Given the description of an element on the screen output the (x, y) to click on. 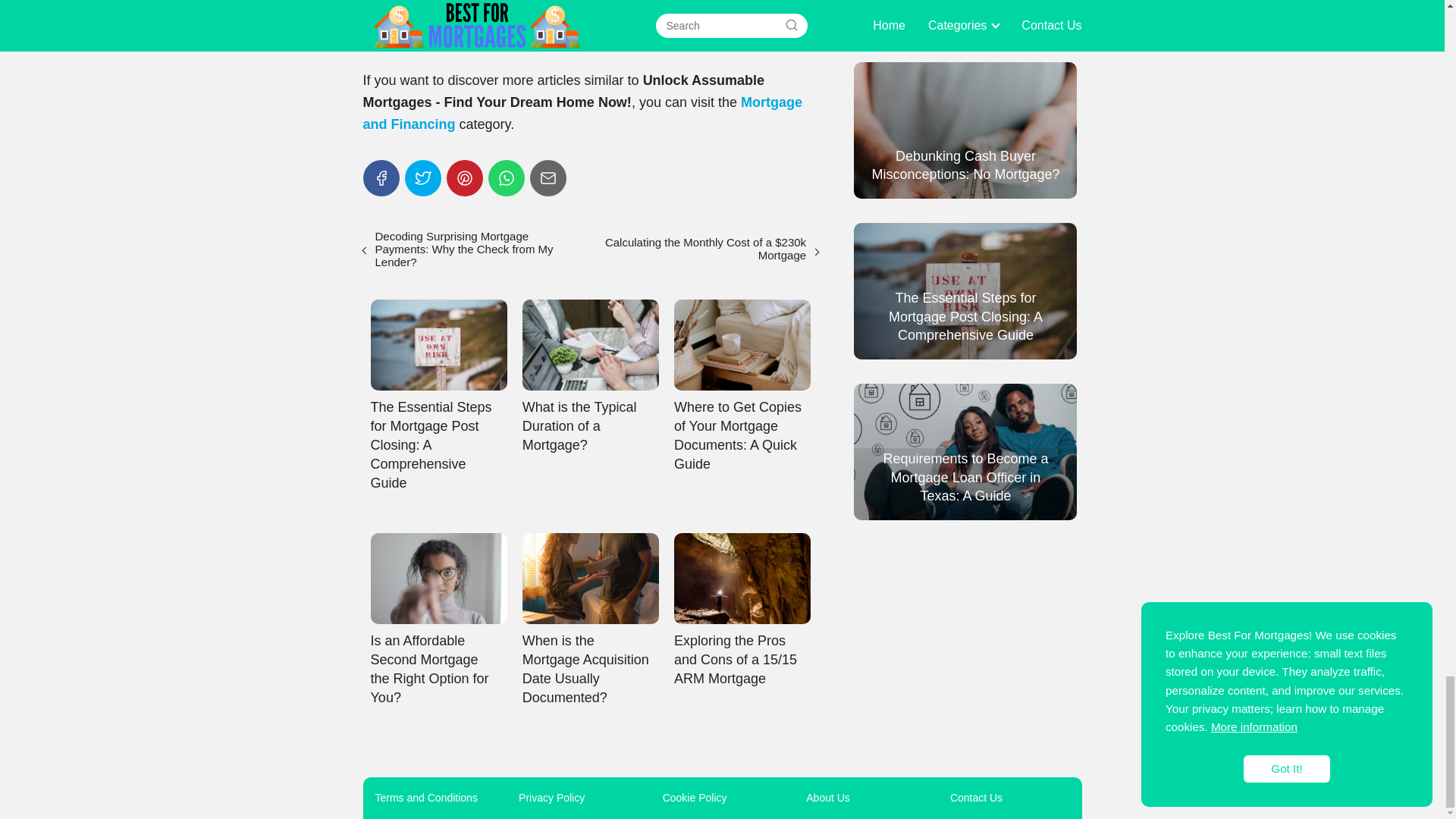
Mortgage and Financing (582, 113)
